Given the description of an element on the screen output the (x, y) to click on. 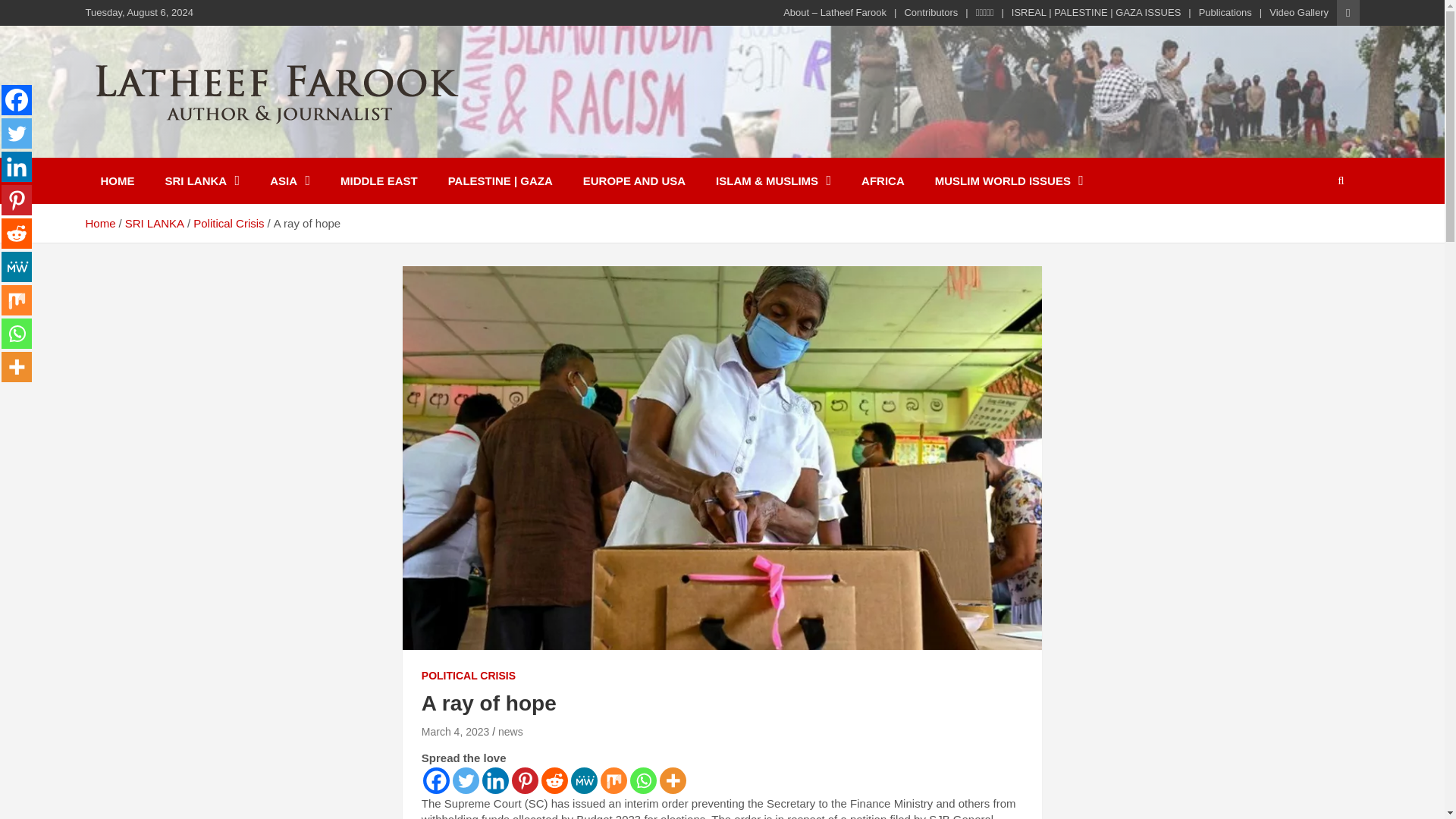
MeWe (583, 780)
Whatsapp (643, 780)
Pinterest (525, 780)
EUROPE AND USA (633, 180)
A ray of hope (455, 731)
Facebook (436, 780)
SRI LANKA (202, 180)
Twitter (16, 132)
Reddit (554, 780)
Latheef Farook (193, 146)
Linkedin (494, 780)
HOME (116, 180)
MIDDLE EAST (378, 180)
More (672, 780)
ASIA (289, 180)
